Given the description of an element on the screen output the (x, y) to click on. 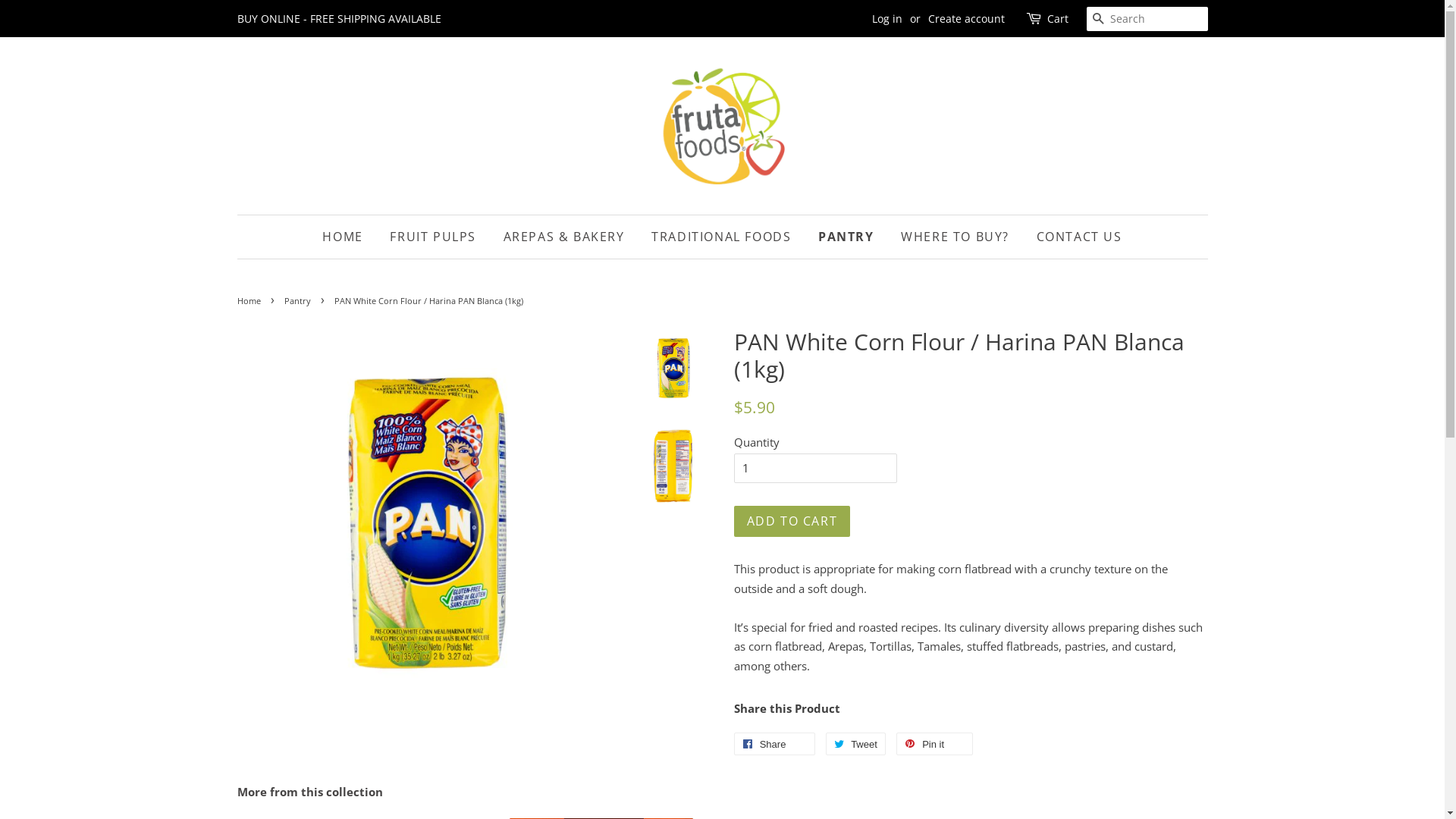
Pin it Element type: text (934, 743)
CONTACT US Element type: text (1073, 236)
SEARCH Element type: text (1097, 18)
FRUIT PULPS Element type: text (432, 236)
Home Element type: text (249, 300)
WHERE TO BUY? Element type: text (954, 236)
Pantry Element type: text (298, 300)
Share Element type: text (774, 743)
PANTRY Element type: text (845, 236)
Create account Element type: text (966, 18)
AREPAS & BAKERY Element type: text (564, 236)
ADD TO CART Element type: text (792, 520)
Tweet Element type: text (855, 743)
HOME Element type: text (347, 236)
Log in Element type: text (887, 18)
Cart Element type: text (1056, 18)
TRADITIONAL FOODS Element type: text (721, 236)
